Given the description of an element on the screen output the (x, y) to click on. 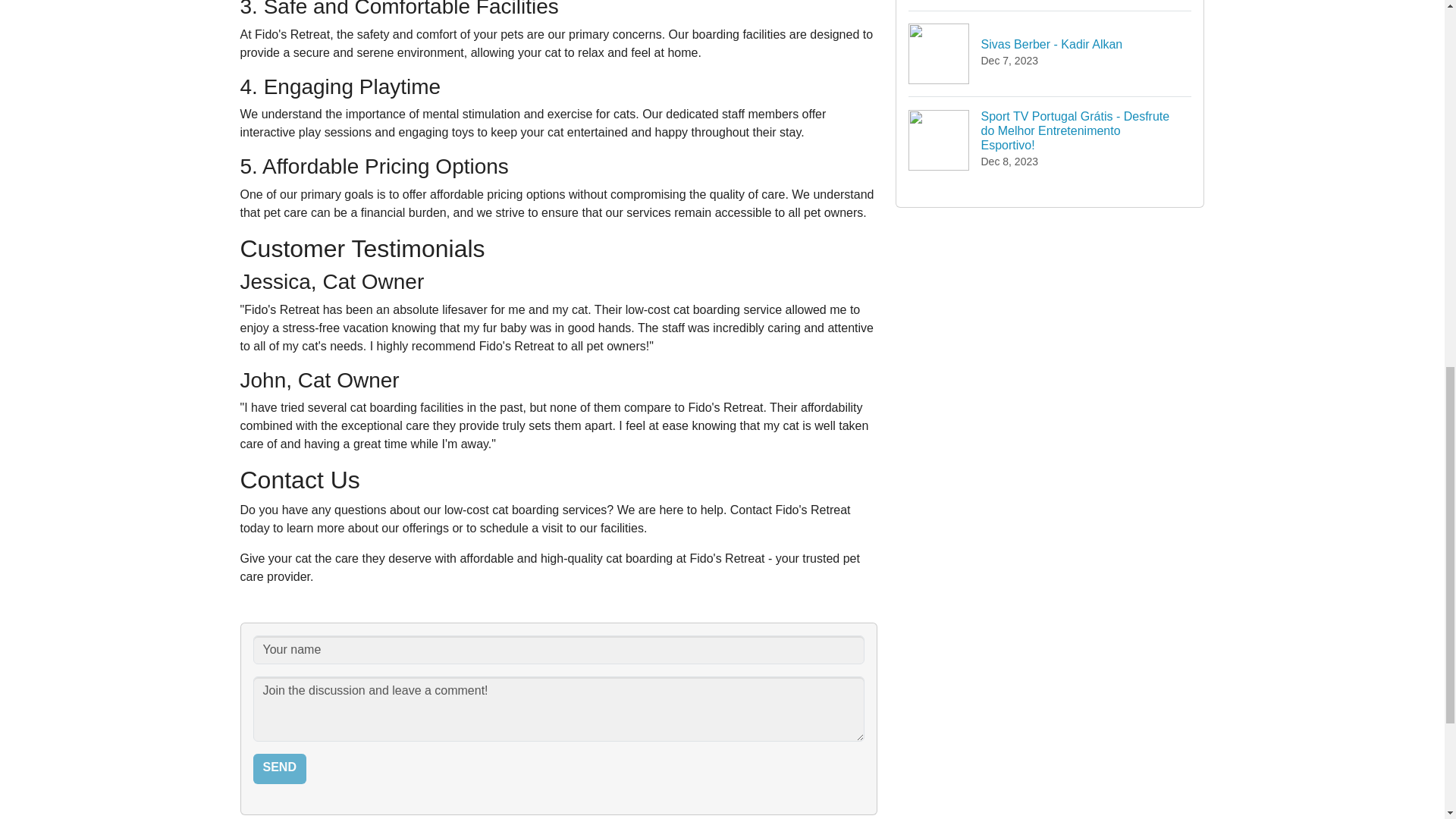
Send (279, 768)
Send (279, 768)
